Given the description of an element on the screen output the (x, y) to click on. 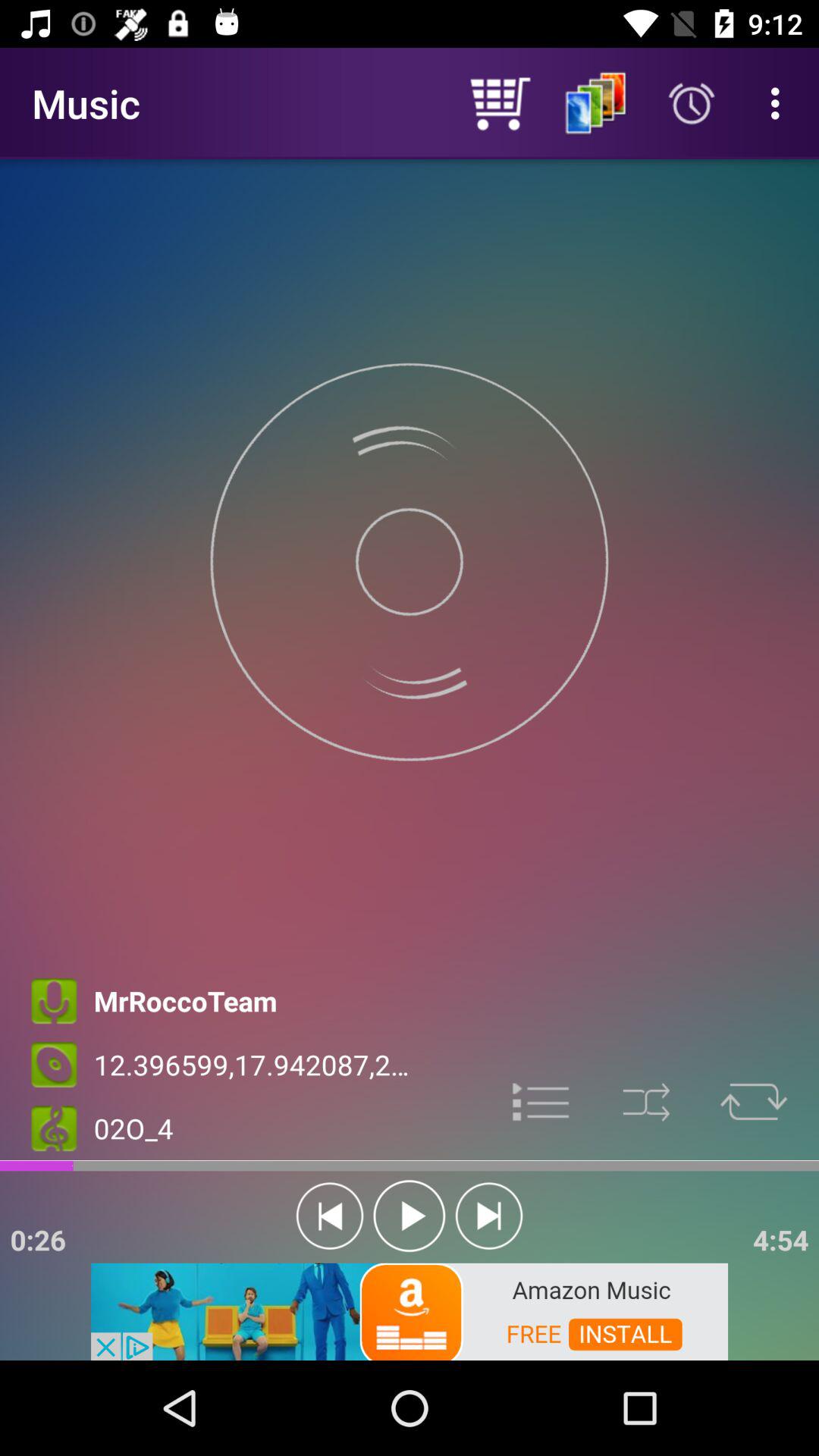
go to advertisement (541, 1100)
